Given the description of an element on the screen output the (x, y) to click on. 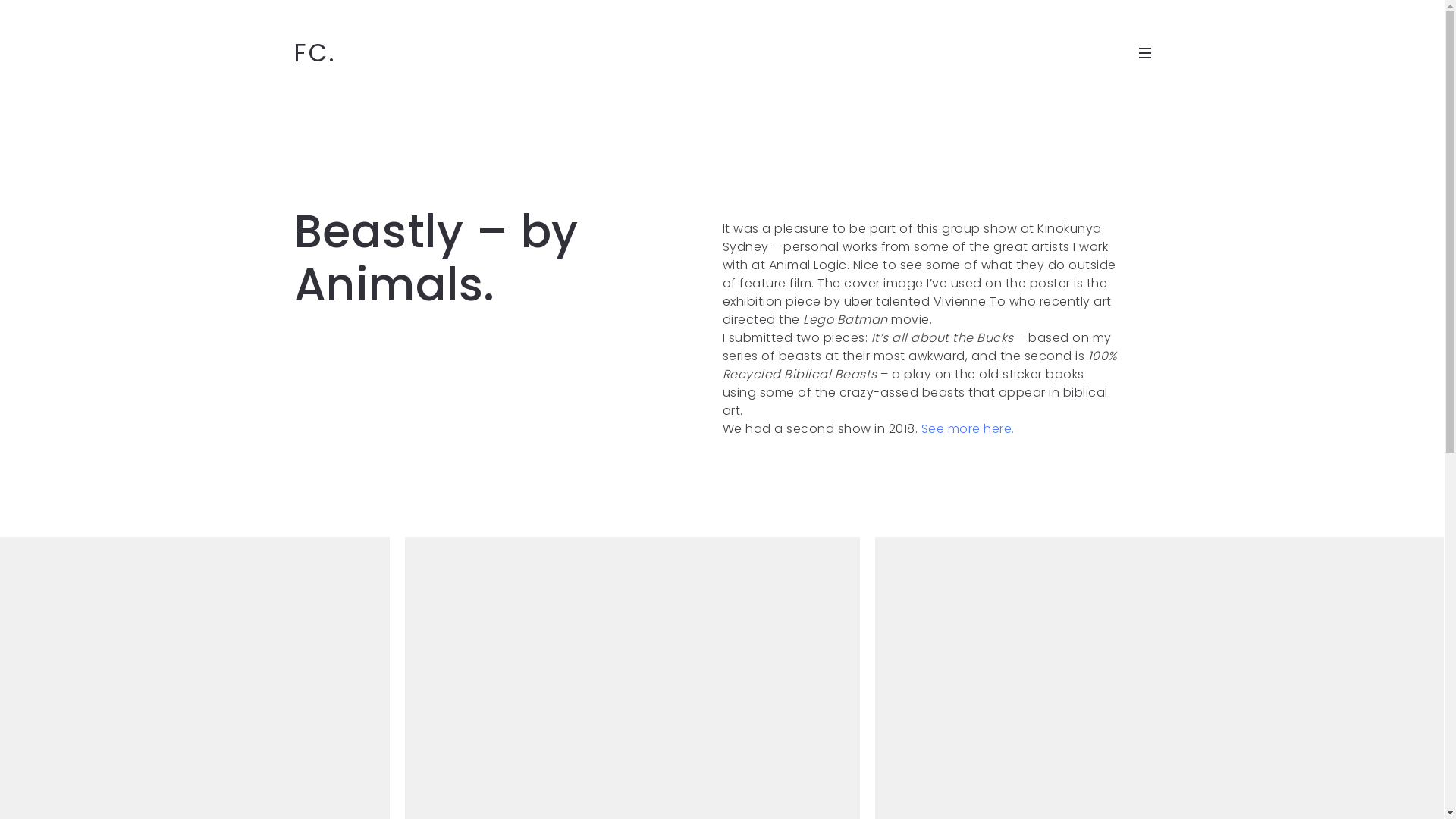
FC. Element type: text (314, 53)
Vivienne To Element type: text (968, 301)
See more here. Element type: text (966, 428)
